Given the description of an element on the screen output the (x, y) to click on. 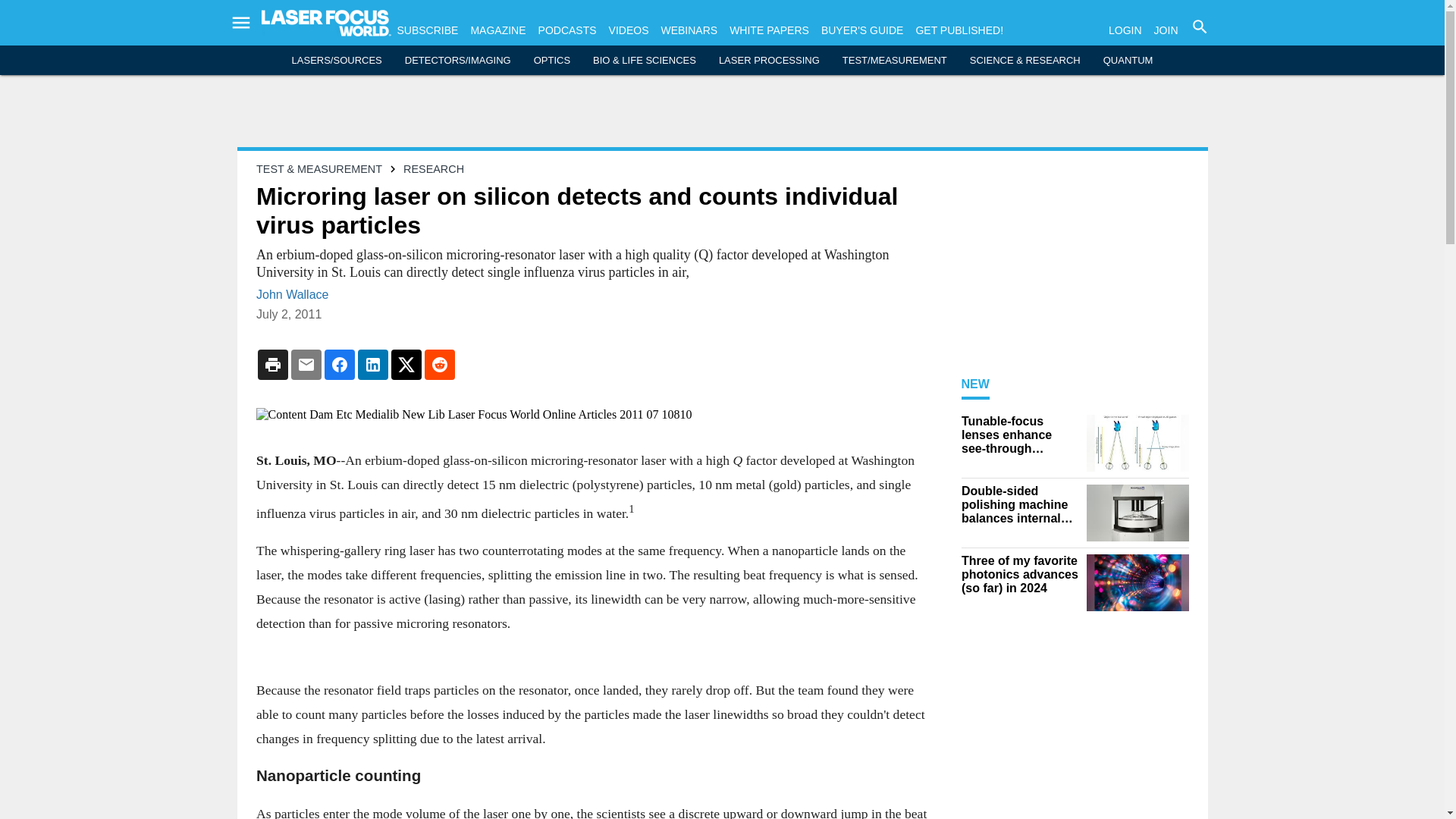
LASER PROCESSING (769, 60)
PODCASTS (567, 30)
OPTICS (552, 60)
WEBINARS (689, 30)
GET PUBLISHED! (959, 30)
LOGIN (1124, 30)
JOIN (1165, 30)
QUANTUM (1128, 60)
MAGAZINE (497, 30)
WHITE PAPERS (769, 30)
